Given the description of an element on the screen output the (x, y) to click on. 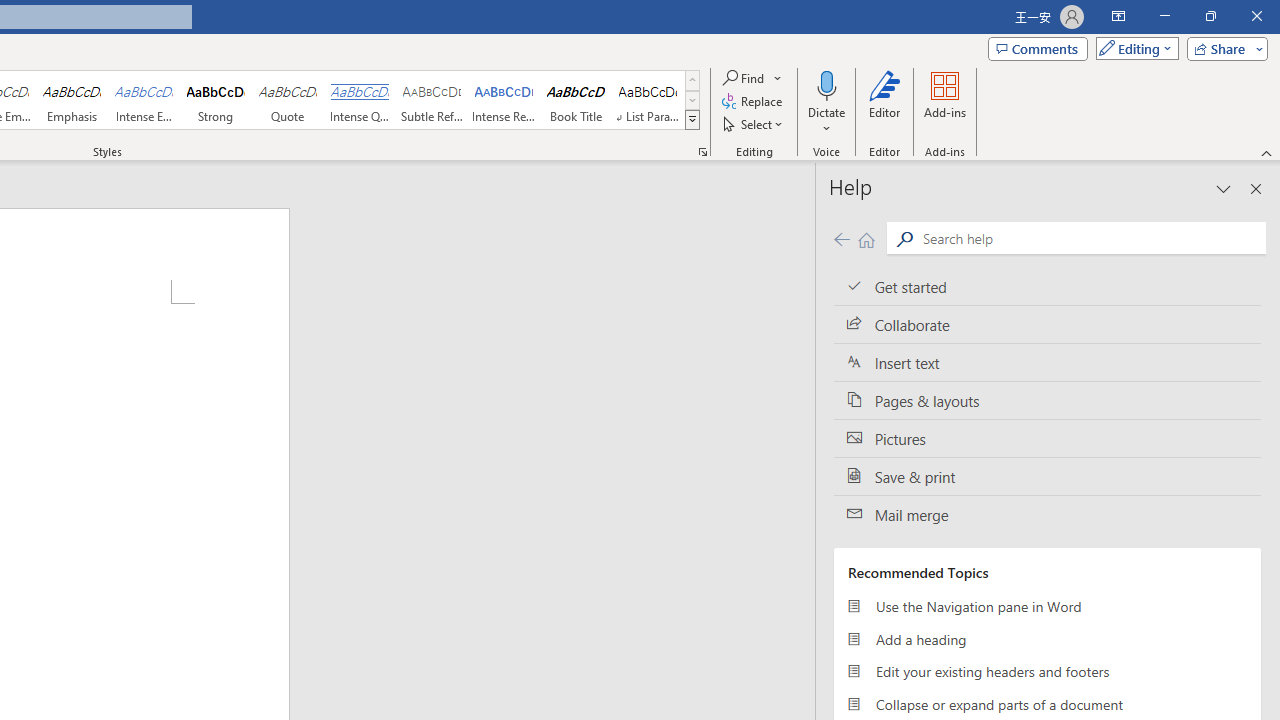
Collapse the Ribbon (1267, 152)
Find (753, 78)
Emphasis (71, 100)
Strong (216, 100)
Insert text (1047, 363)
Intense Quote (359, 100)
Editor (885, 102)
Replace... (753, 101)
Quote (287, 100)
Mail merge (1047, 515)
Dictate (826, 84)
Intense Reference (504, 100)
Select (754, 124)
Close pane (1256, 188)
Use the Navigation pane in Word (1047, 605)
